Given the description of an element on the screen output the (x, y) to click on. 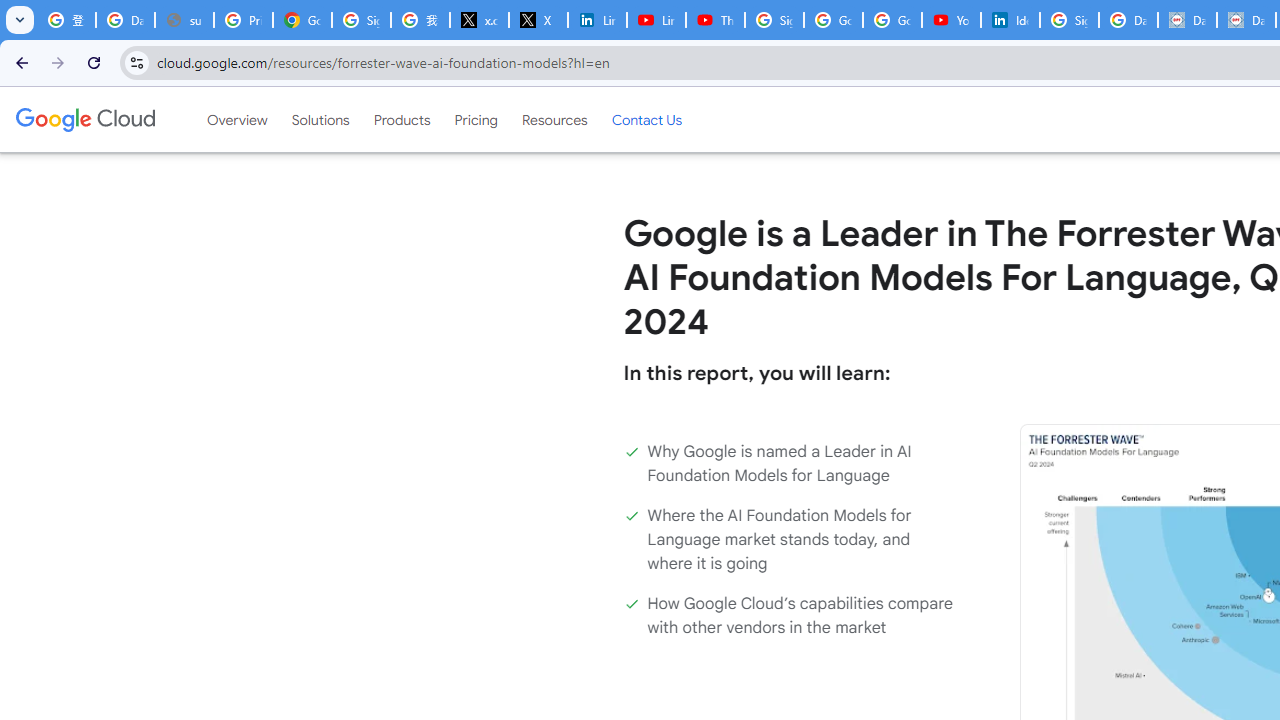
Solutions (320, 119)
Sign in - Google Accounts (1069, 20)
Privacy Help Center - Policies Help (242, 20)
